Given the description of an element on the screen output the (x, y) to click on. 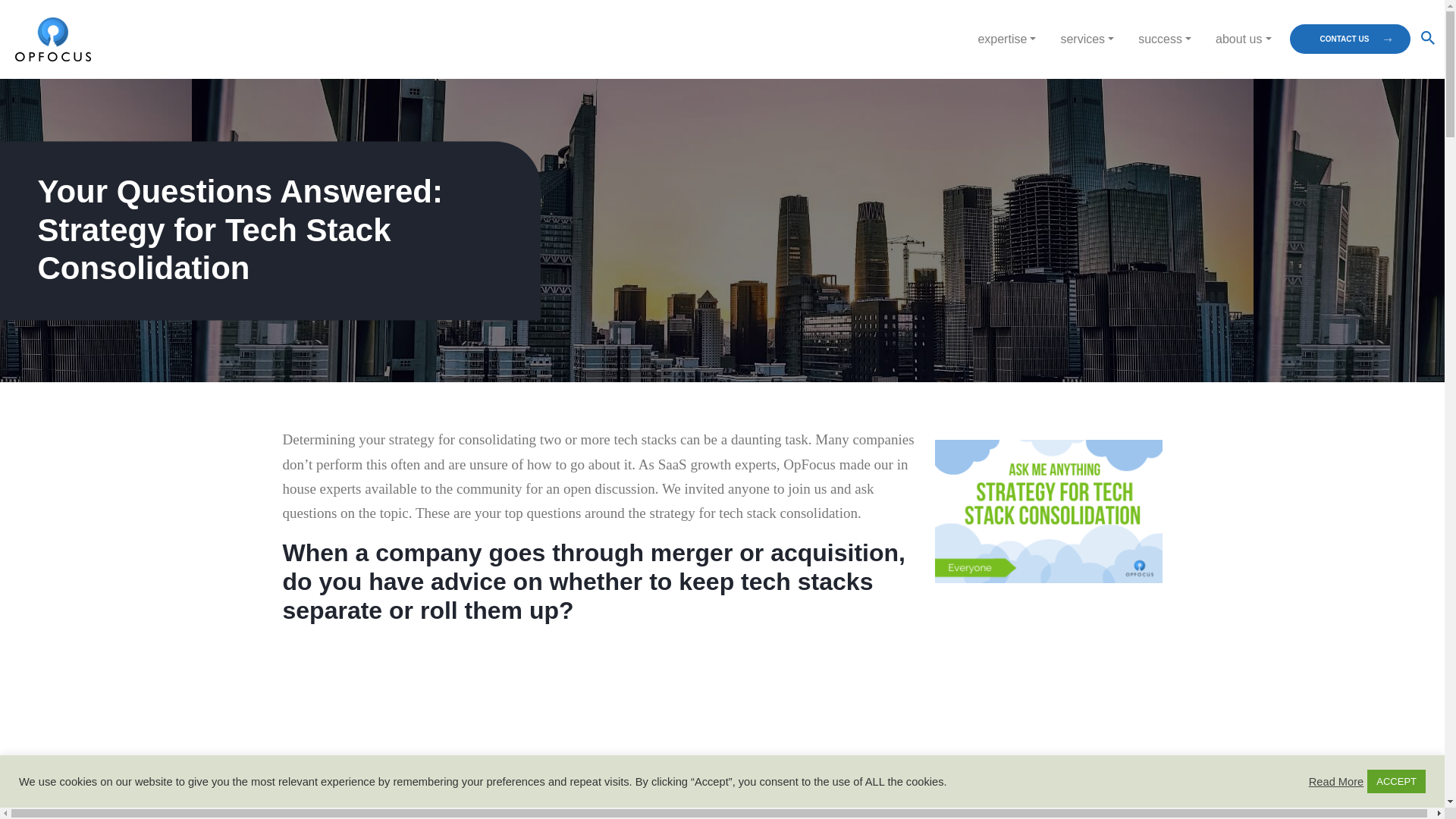
Services (1086, 39)
services (1086, 39)
CONTACT US (1350, 39)
success (1164, 39)
expertise (1006, 39)
Expertise (1006, 39)
about us (1243, 39)
